Given the description of an element on the screen output the (x, y) to click on. 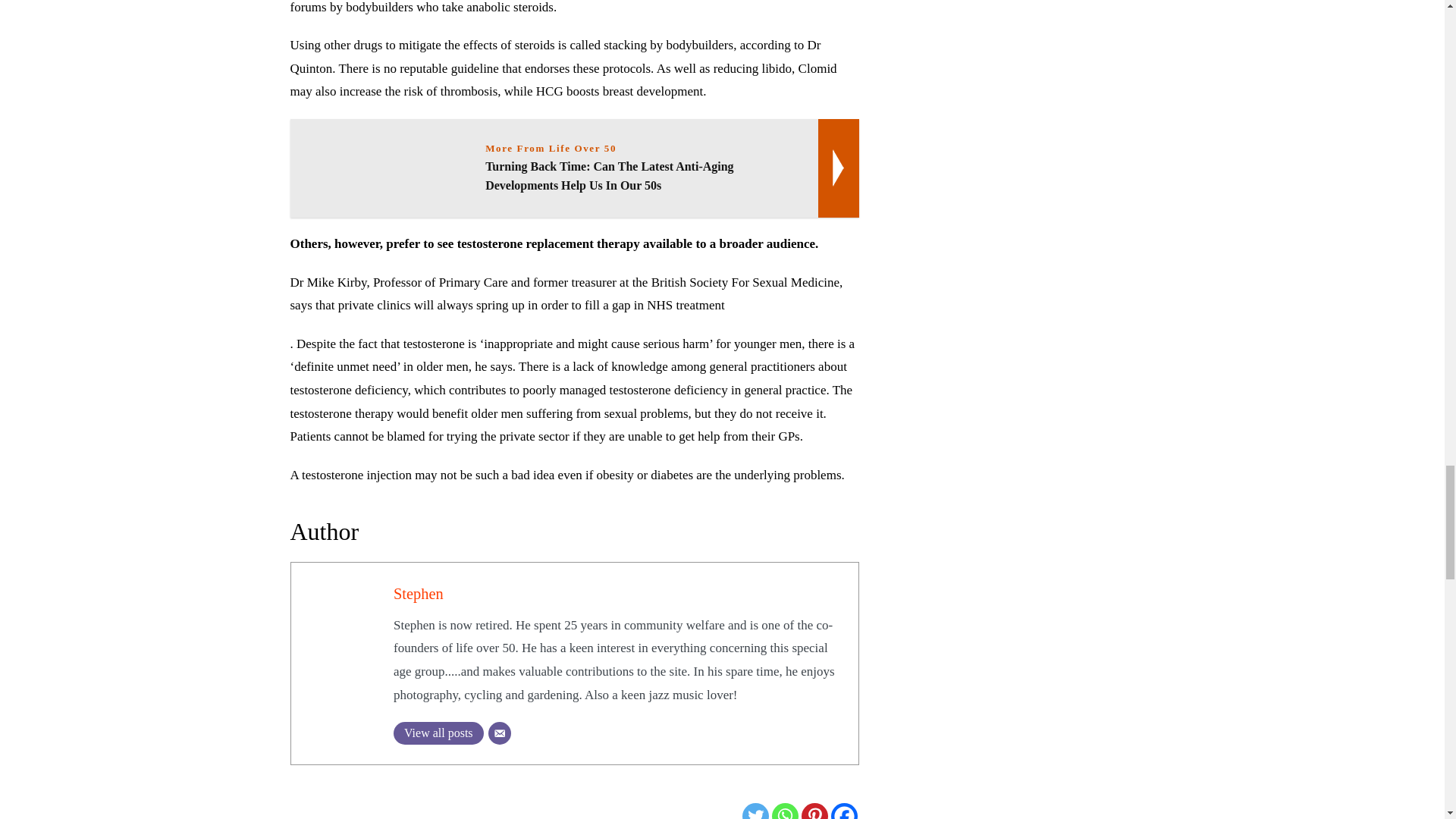
Facebook (844, 811)
Twitter (754, 811)
Stephen (418, 593)
Pinterest (813, 811)
View all posts (438, 732)
Stephen (418, 593)
View all posts (438, 732)
Whatsapp (784, 811)
